Given the description of an element on the screen output the (x, y) to click on. 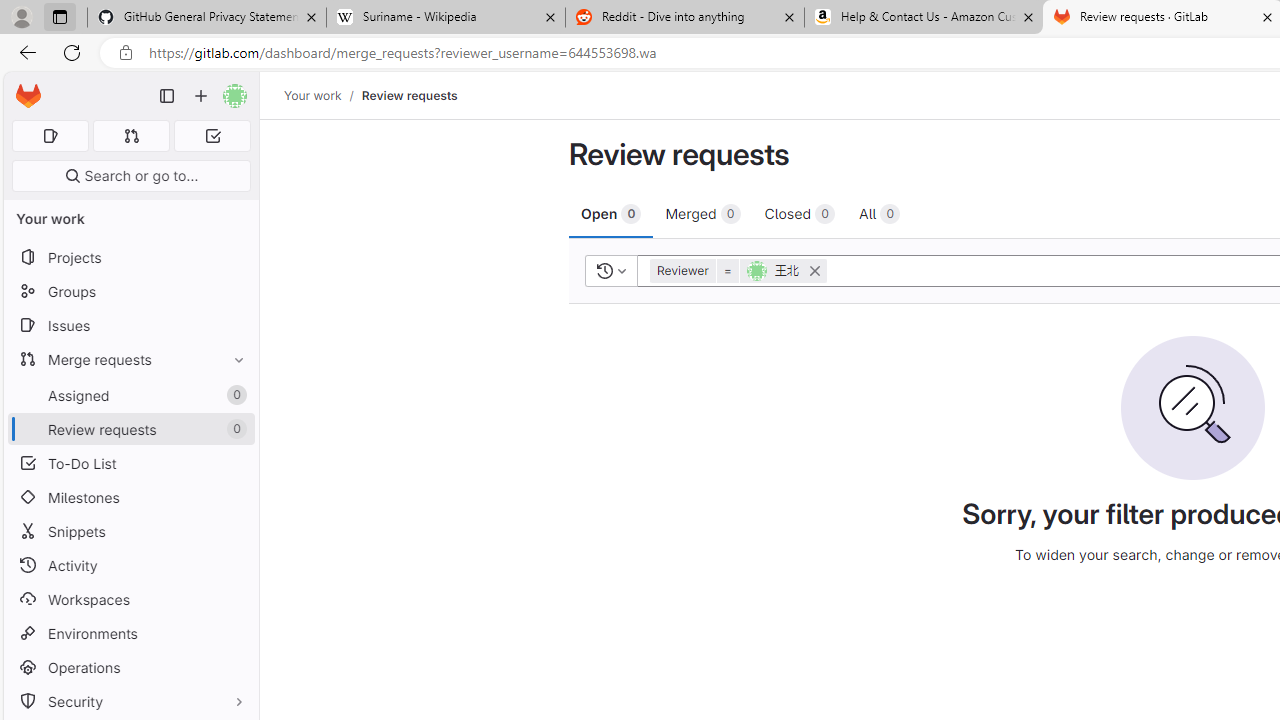
Recent searches (610, 270)
Security (130, 700)
Snippets (130, 530)
Environments (130, 633)
Milestones (130, 497)
GitHub General Privacy Statement - GitHub Docs (207, 17)
Class: s16 dropdown-menu-toggle-icon (621, 270)
Projects (130, 257)
Suriname - Wikipedia (445, 17)
Activity (130, 564)
Assigned 0 (130, 394)
